Given the description of an element on the screen output the (x, y) to click on. 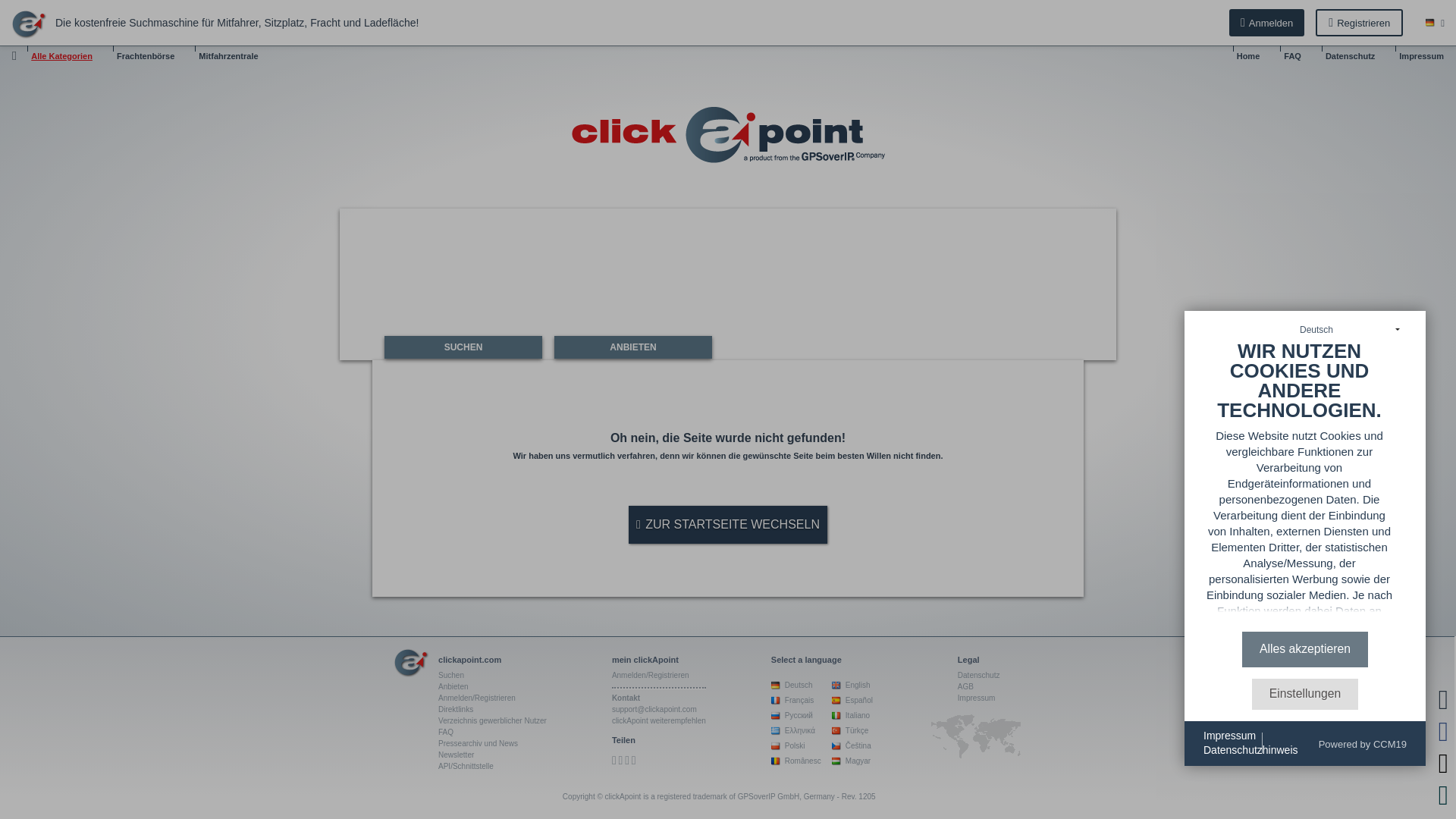
Datenschutz (1349, 55)
ZUR STARTSEITE WECHSELN (727, 524)
Anmelden (1266, 22)
Alle Kategorien (61, 55)
Anbieten (452, 686)
Verzeichnis gewerblicher Nutzer (492, 720)
Impressum (1421, 55)
Home (1248, 55)
ANBIETEN (632, 346)
SUCHEN (462, 346)
Direktlinks (455, 709)
Mitfahrzentrale (227, 55)
Registrieren (1359, 22)
Suchen (451, 674)
